Given the description of an element on the screen output the (x, y) to click on. 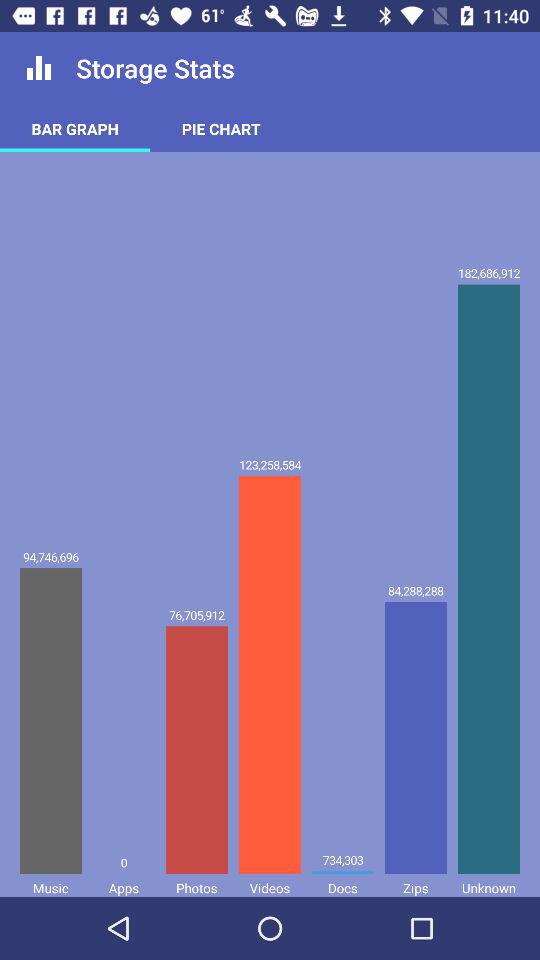
jump until bar graph item (75, 128)
